Given the description of an element on the screen output the (x, y) to click on. 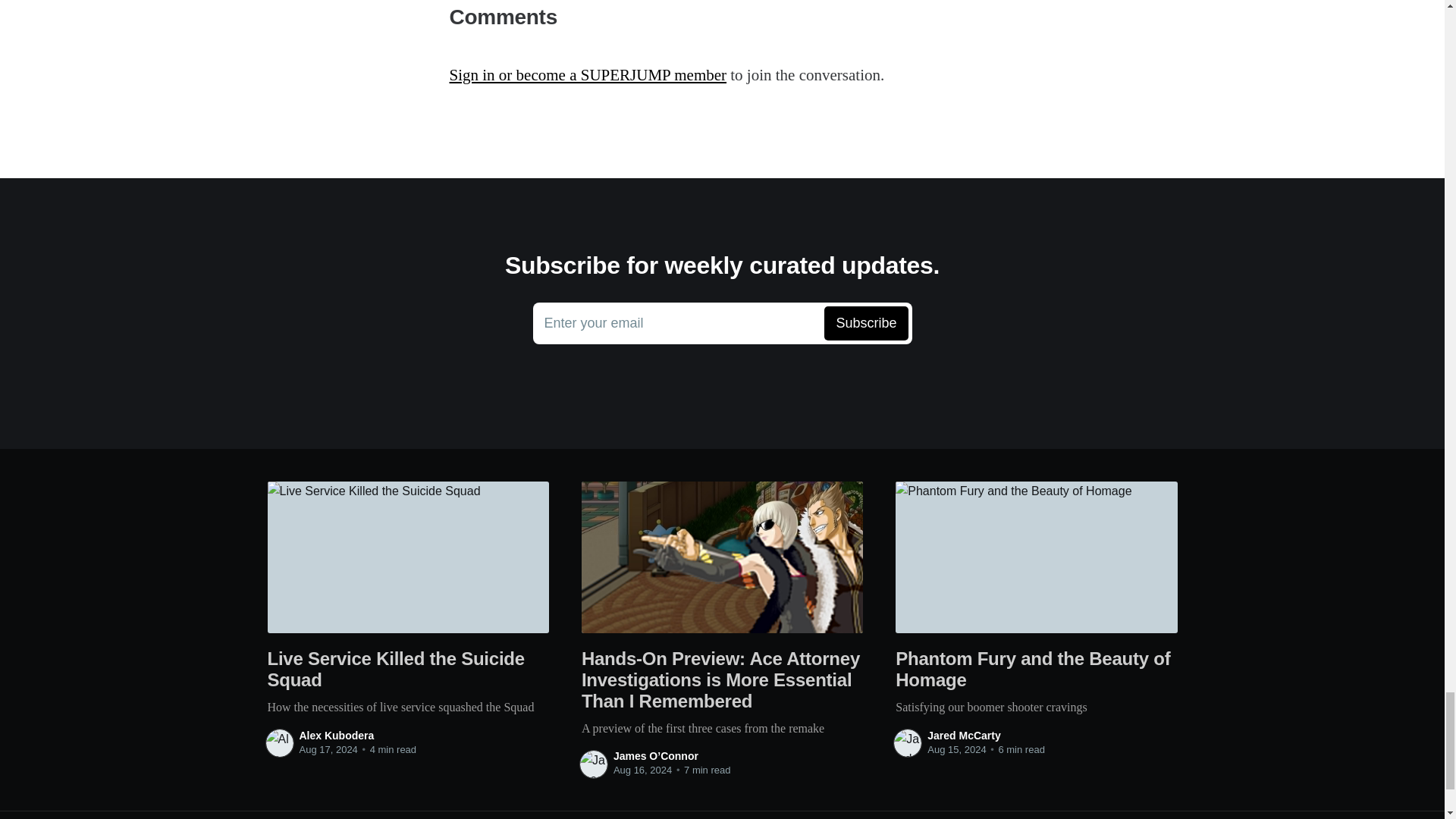
Alex Kubodera (336, 735)
Sign in or become a SUPERJUMP member (587, 75)
